Given the description of an element on the screen output the (x, y) to click on. 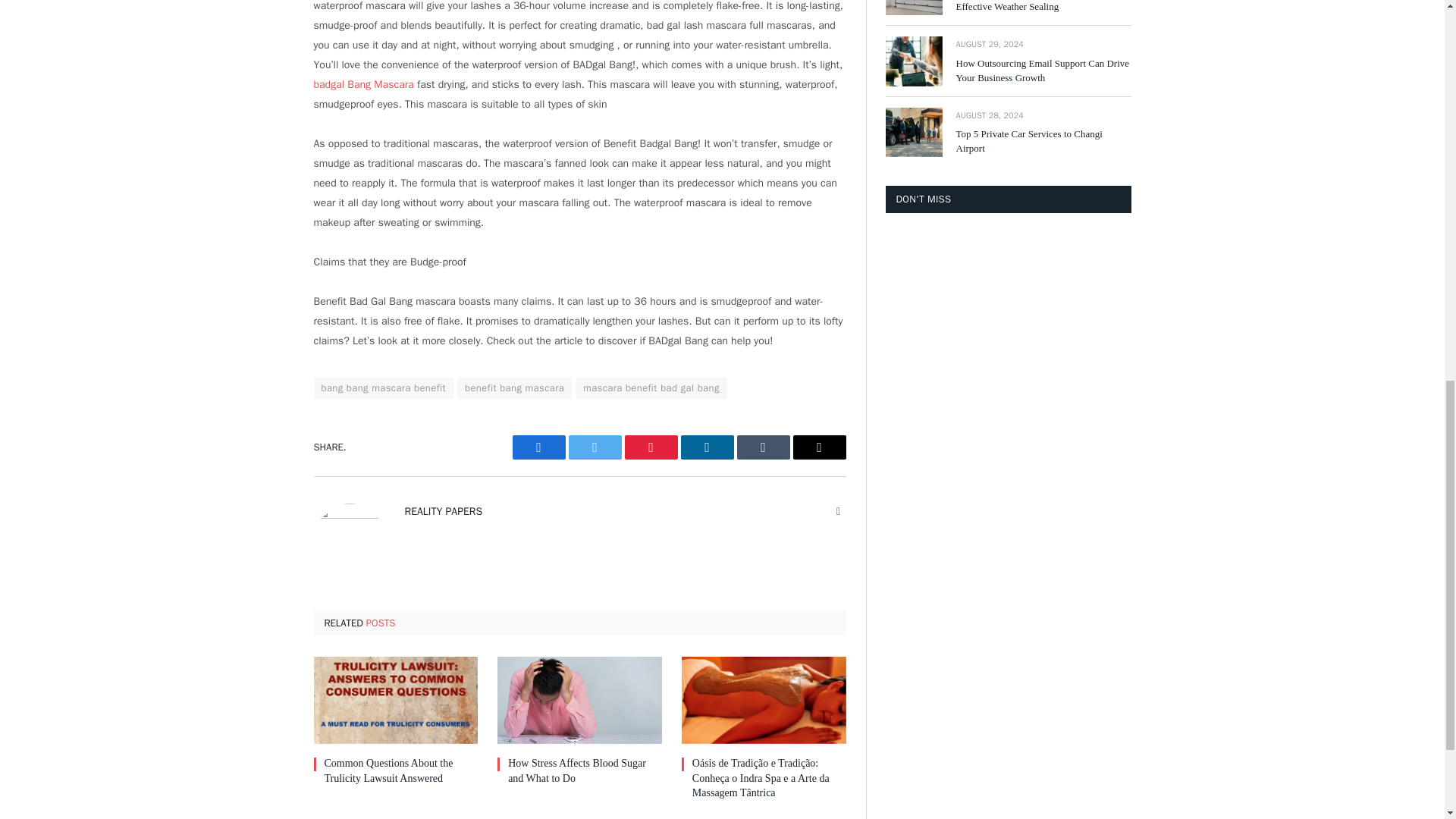
Share on Facebook (539, 446)
benefit bang mascara (514, 387)
Twitter (595, 446)
Facebook (539, 446)
REALITY PAPERS (443, 511)
Share on Tumblr (763, 446)
Share on Pinterest (651, 446)
mascara benefit bad gal bang (650, 387)
LinkedIn (707, 446)
bang bang mascara benefit (384, 387)
